Given the description of an element on the screen output the (x, y) to click on. 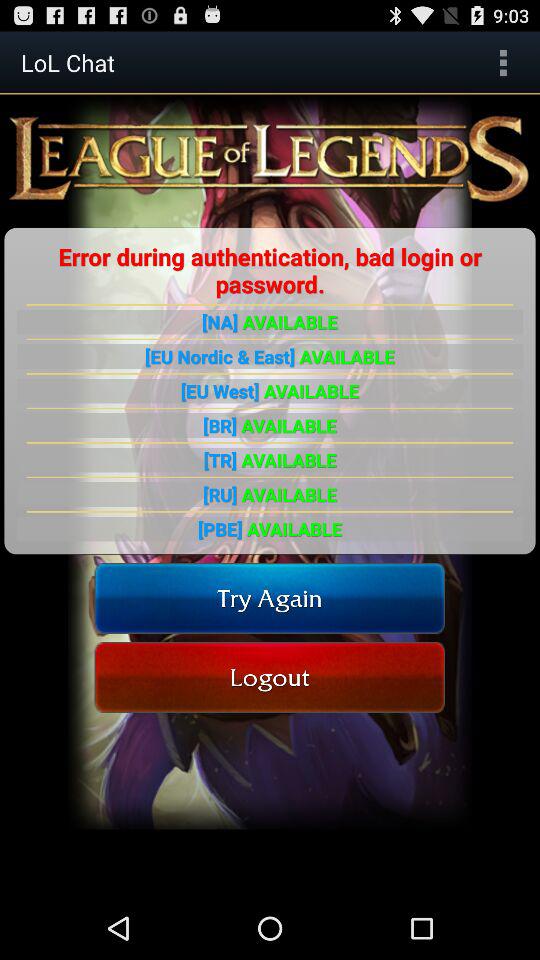
flip until logout icon (269, 676)
